Given the description of an element on the screen output the (x, y) to click on. 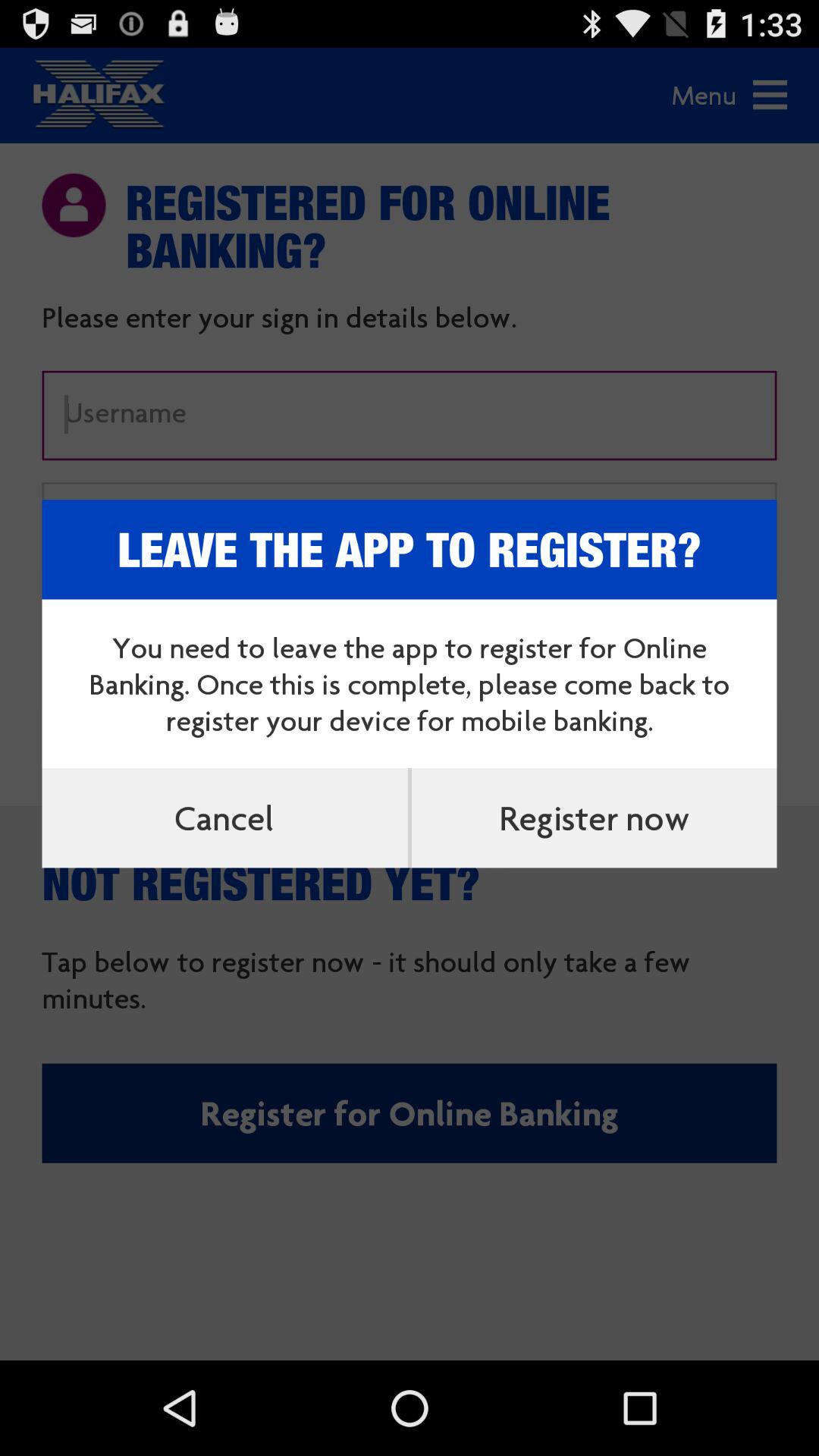
turn on item on the left (224, 817)
